Given the description of an element on the screen output the (x, y) to click on. 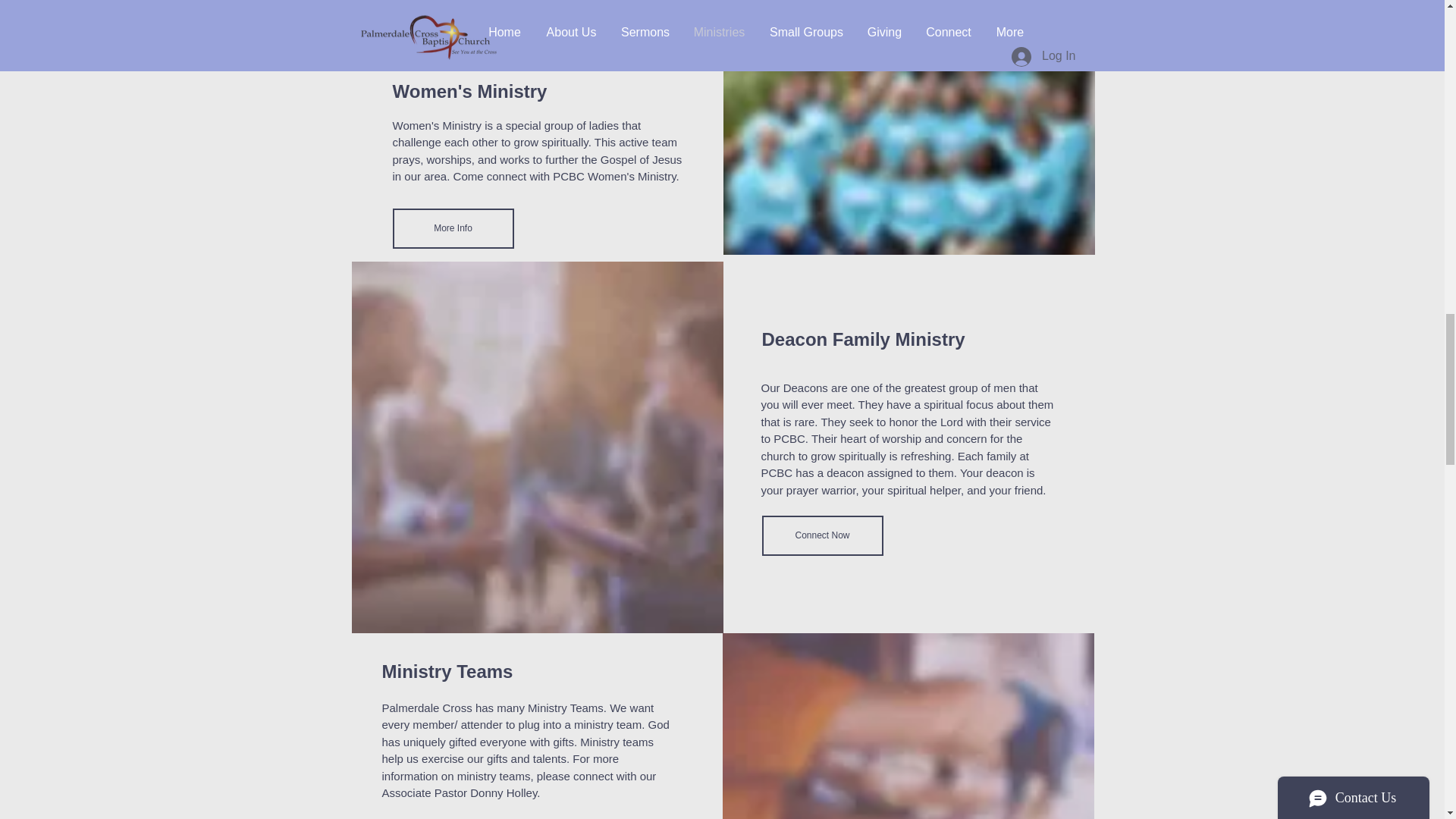
More Info (453, 228)
photo-1464500422302-6188776dcbf3-edit.jpg (907, 726)
GettyImages-576798533-edit.jpg (540, 12)
Connect Now (821, 535)
